Given the description of an element on the screen output the (x, y) to click on. 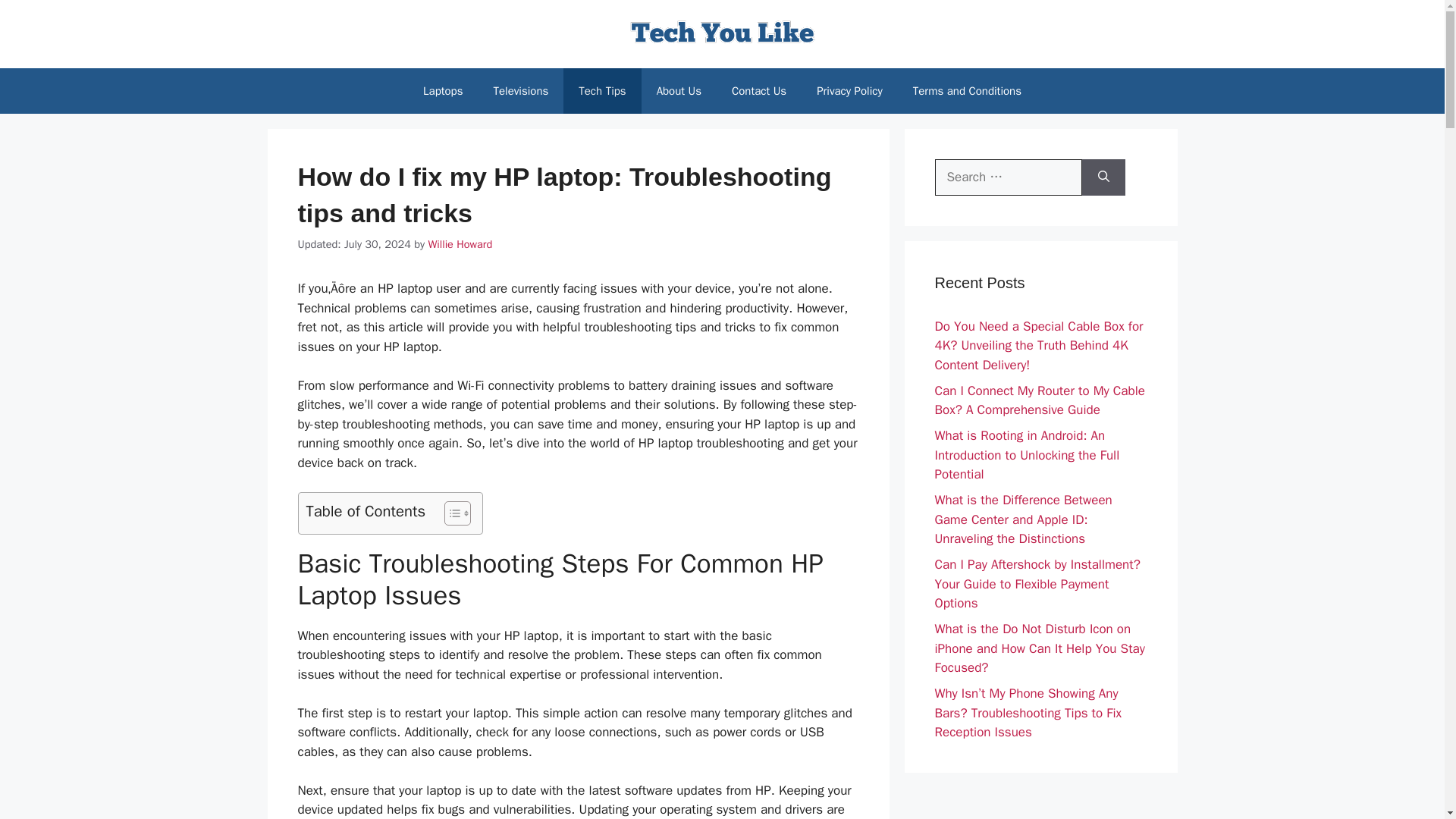
About Us (679, 90)
View all posts by Willie Howard (460, 243)
Willie Howard (460, 243)
Contact Us (759, 90)
Laptops (442, 90)
Terms and Conditions (967, 90)
Televisions (520, 90)
Tech Tips (601, 90)
Privacy Policy (850, 90)
